Given the description of an element on the screen output the (x, y) to click on. 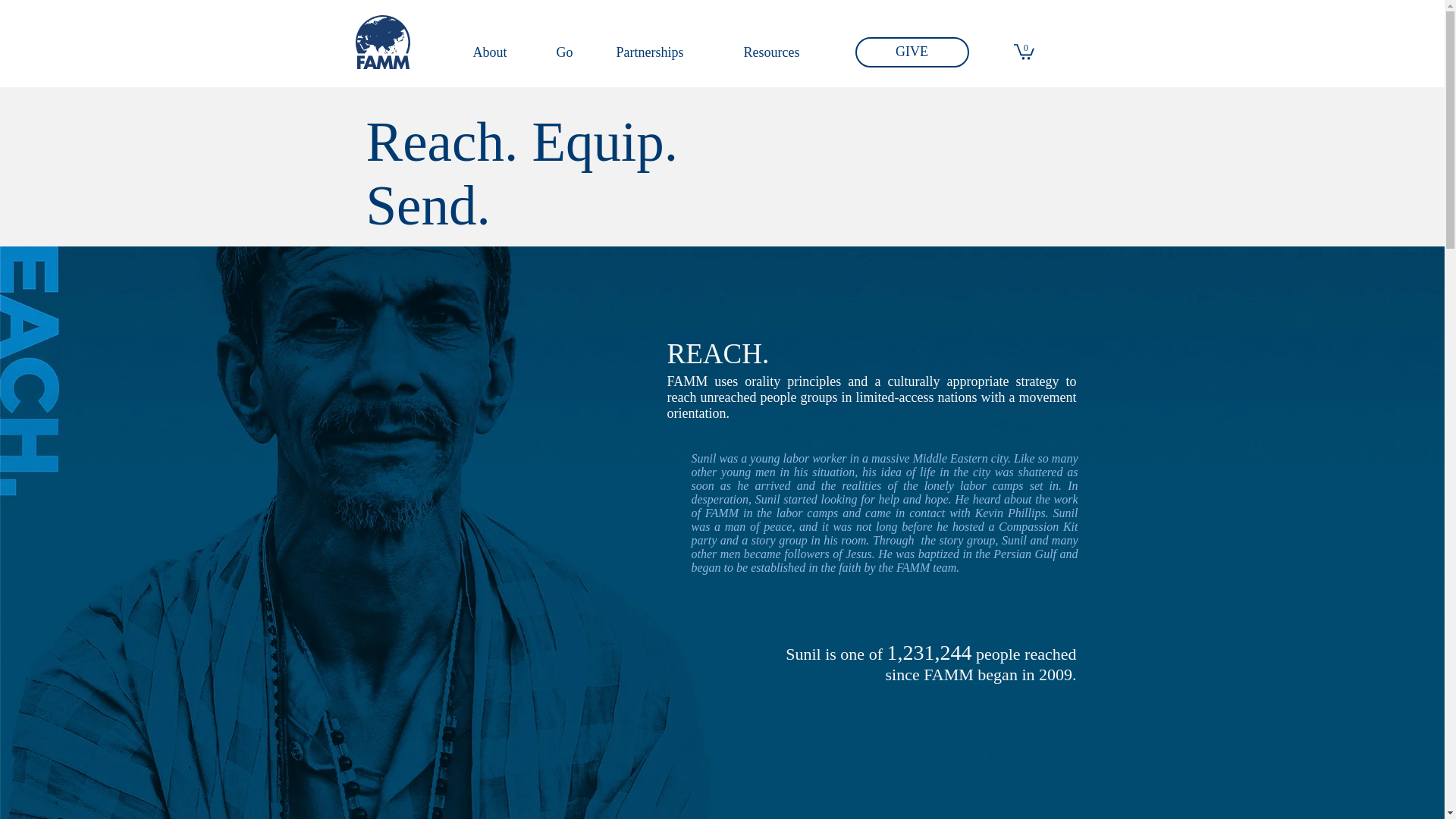
0 (1023, 50)
0 (1023, 50)
GIVE (912, 51)
